Given the description of an element on the screen output the (x, y) to click on. 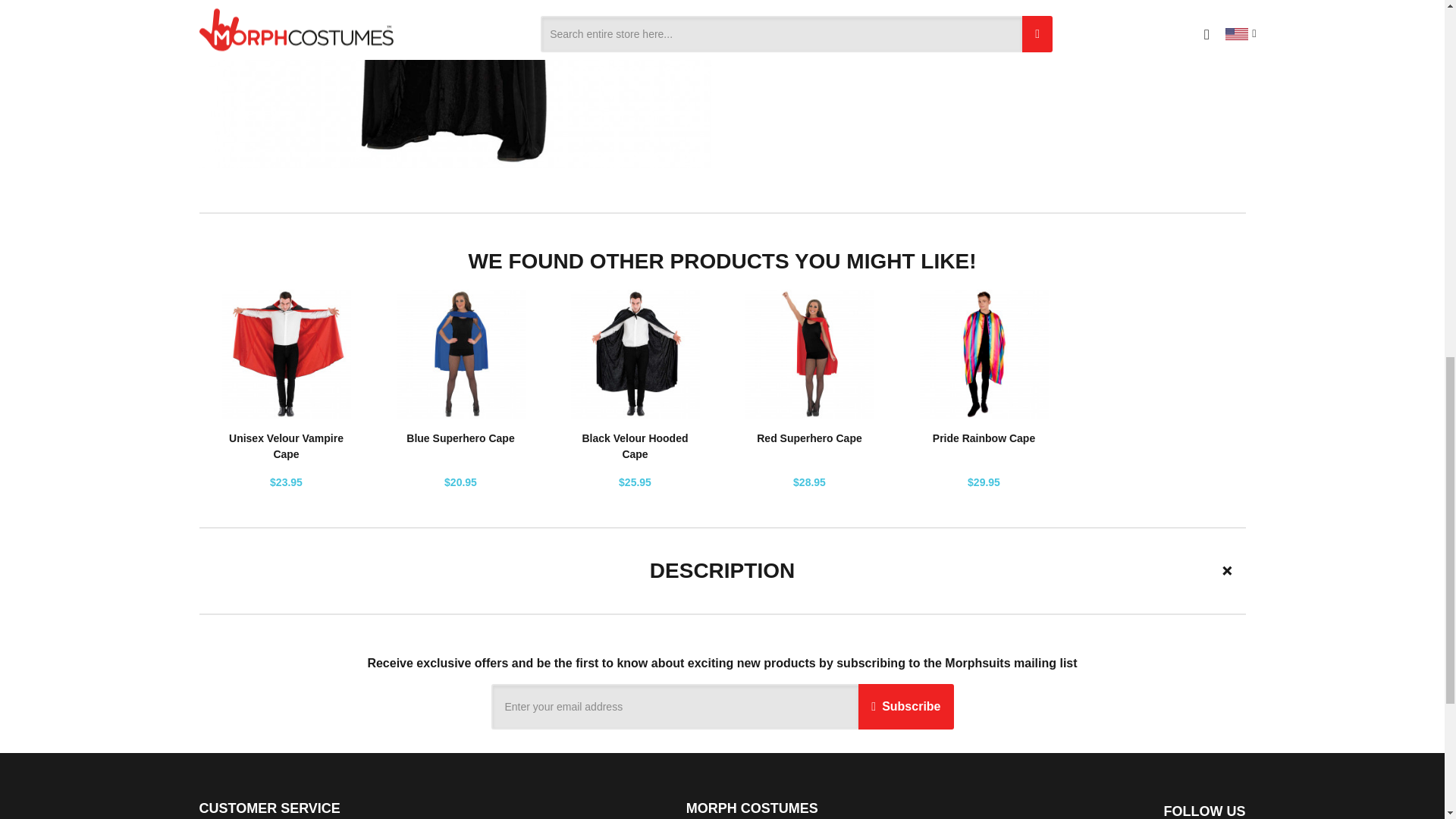
Unisex Velour Vampire Cape (285, 446)
Pride Rainbow Cape (984, 438)
Subscribe (906, 706)
Black Velour Hooded Cape (633, 446)
Blue Superhero Cape (459, 438)
Red Superhero Cape (809, 438)
